Given the description of an element on the screen output the (x, y) to click on. 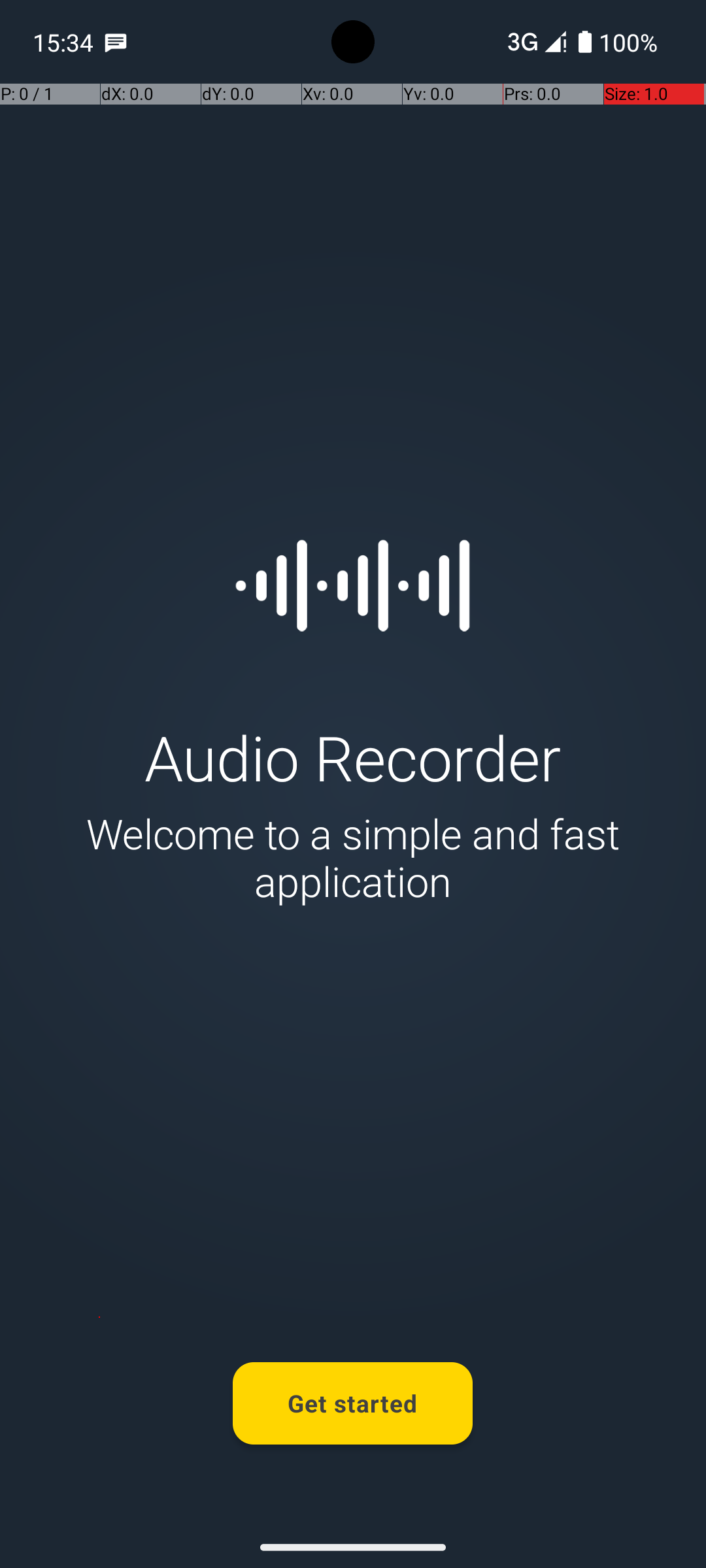
Get started Element type: android.widget.Button (352, 1403)
Audio Recorder Element type: android.widget.TextView (352, 756)
Welcome to a simple and fast application Element type: android.widget.TextView (352, 856)
